Given the description of an element on the screen output the (x, y) to click on. 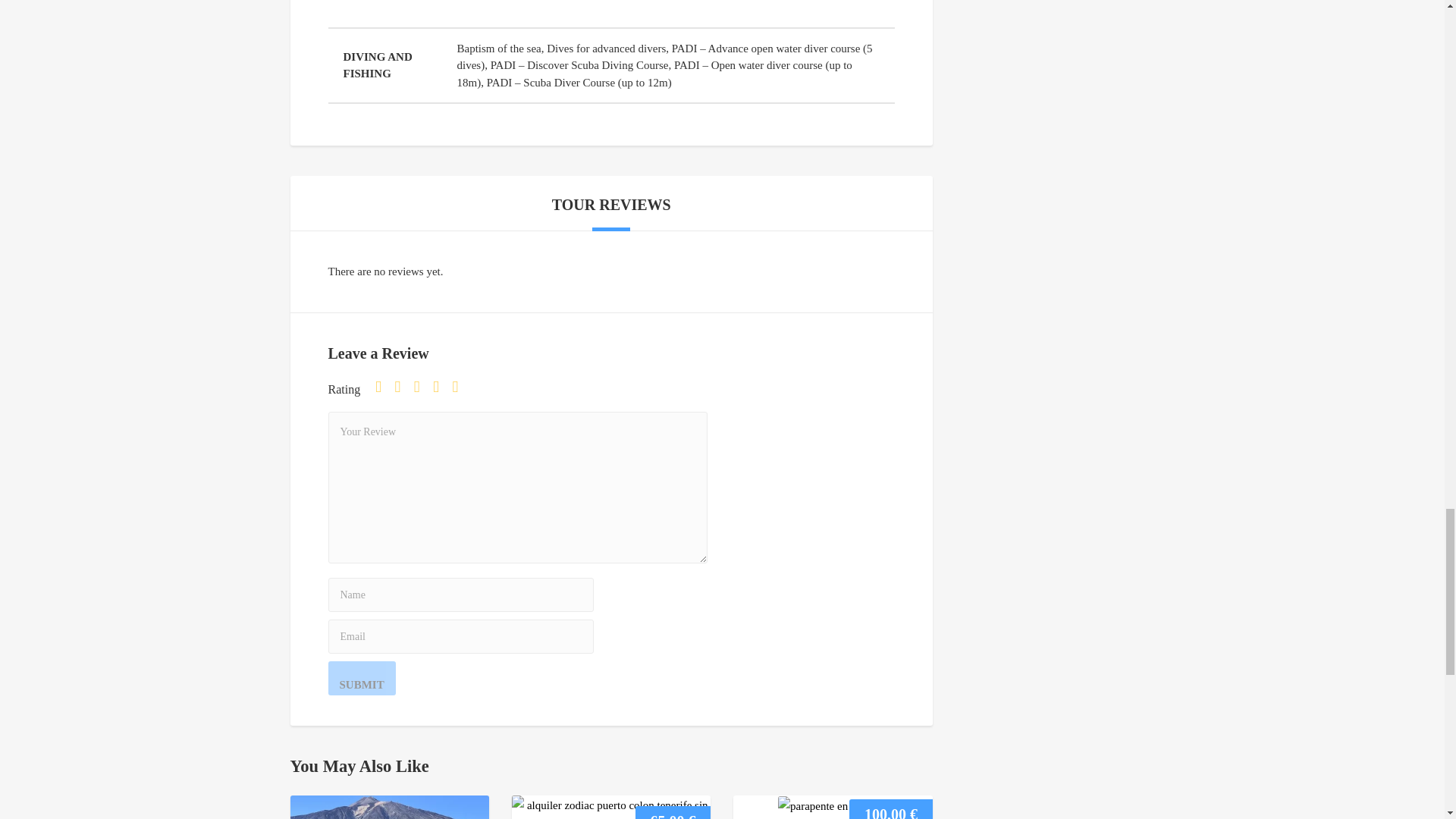
2 (402, 386)
3 (421, 386)
Submit (360, 677)
4 (440, 386)
Submit (360, 677)
5 (459, 386)
1 (383, 386)
